Given the description of an element on the screen output the (x, y) to click on. 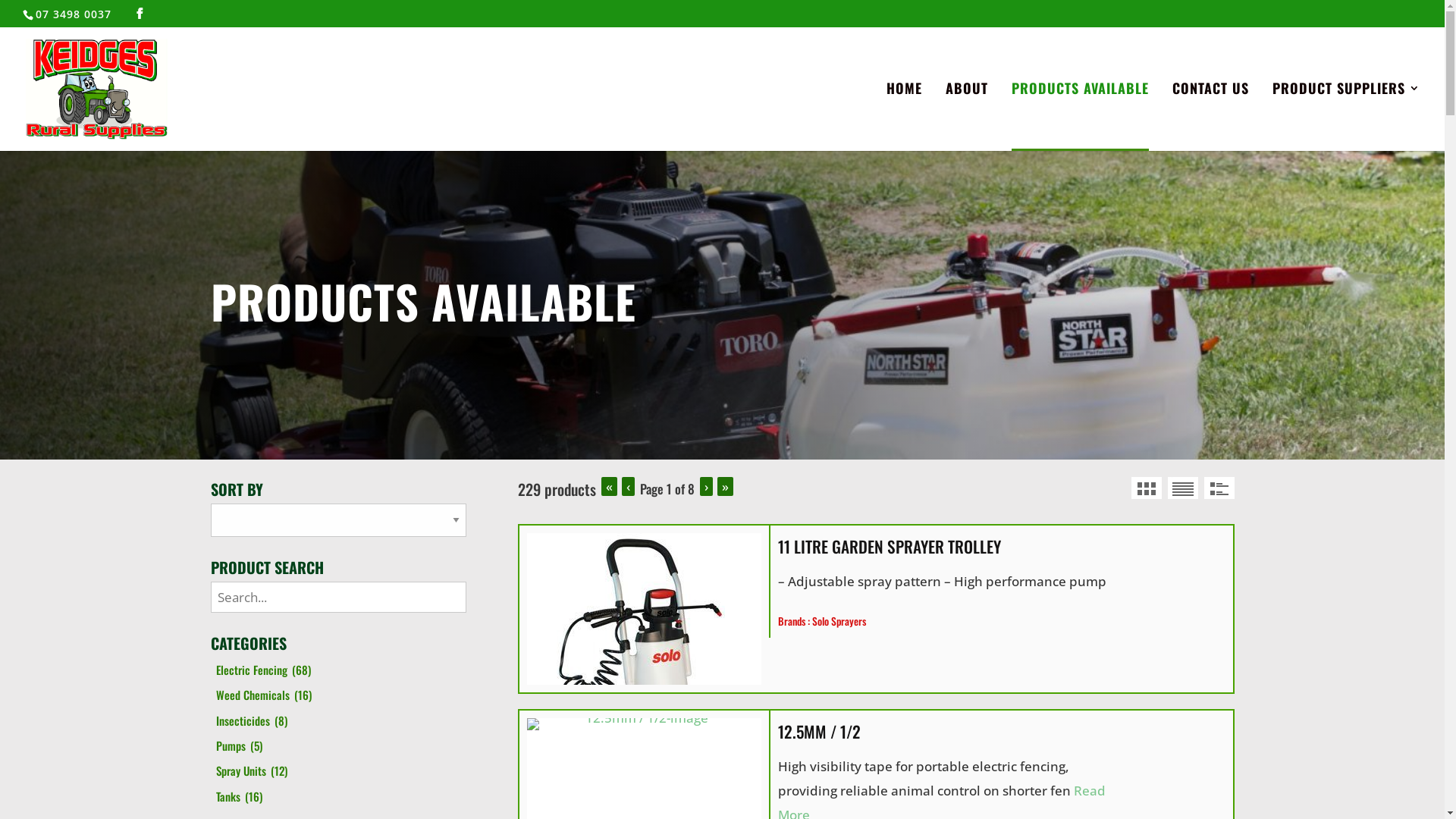
ABOUT Element type: text (966, 115)
CONTACT US Element type: text (1210, 115)
11 LITRE GARDEN SPRAYER TROLLEY Element type: text (948, 546)
PRODUCT SUPPLIERS Element type: text (1346, 115)
12.5MM / 1/2 Element type: text (948, 731)
PRODUCTS AVAILABLE Element type: text (1079, 116)
HOME Element type: text (904, 115)
